Given the description of an element on the screen output the (x, y) to click on. 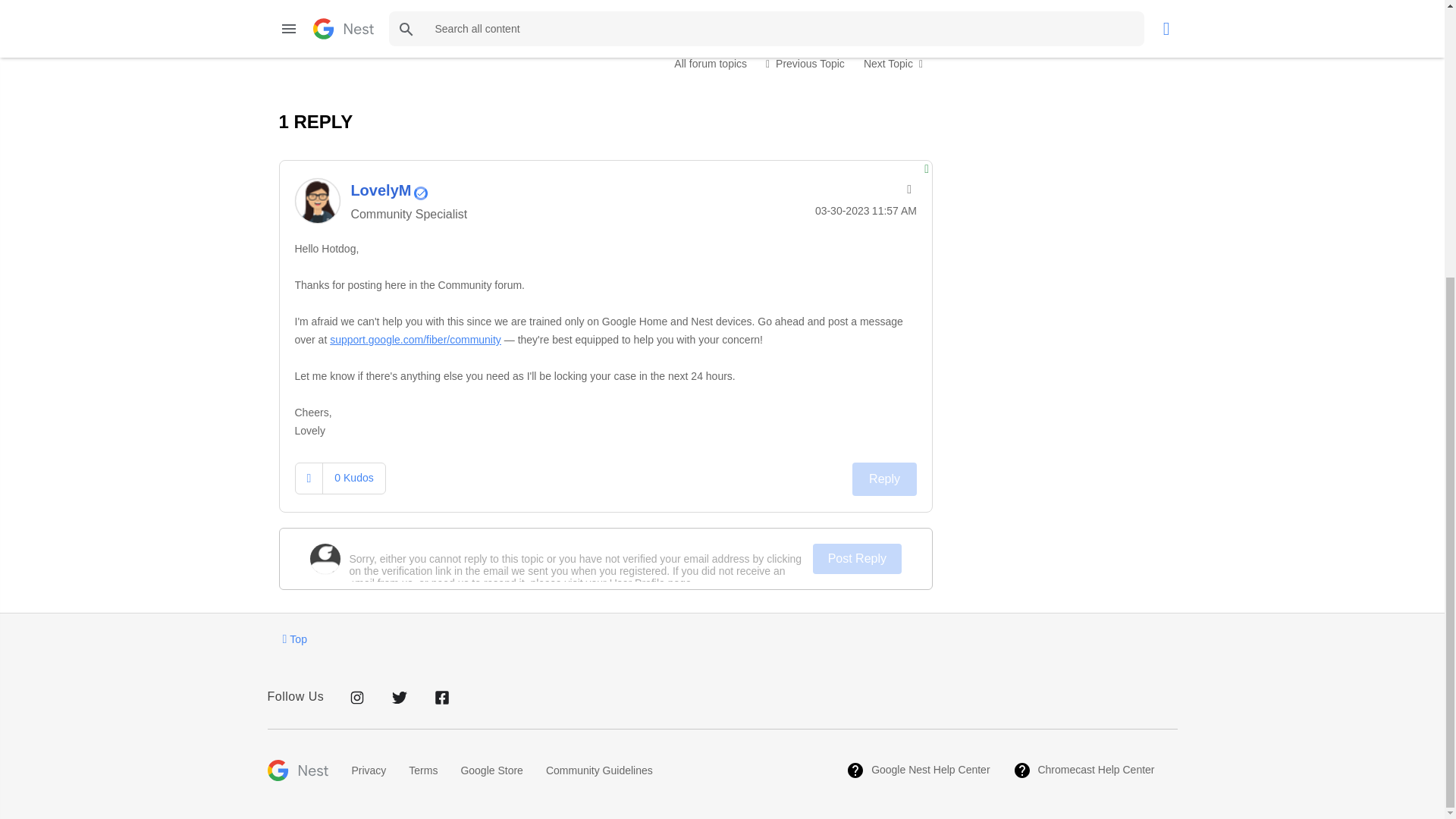
Click here to give kudos to this post. (309, 5)
Top (293, 638)
Schedules on Family WiFi keep disabling (804, 63)
Community Specialist (420, 192)
The total number of kudos this post has received. (353, 5)
LovelyM (316, 200)
Top (293, 638)
